Given the description of an element on the screen output the (x, y) to click on. 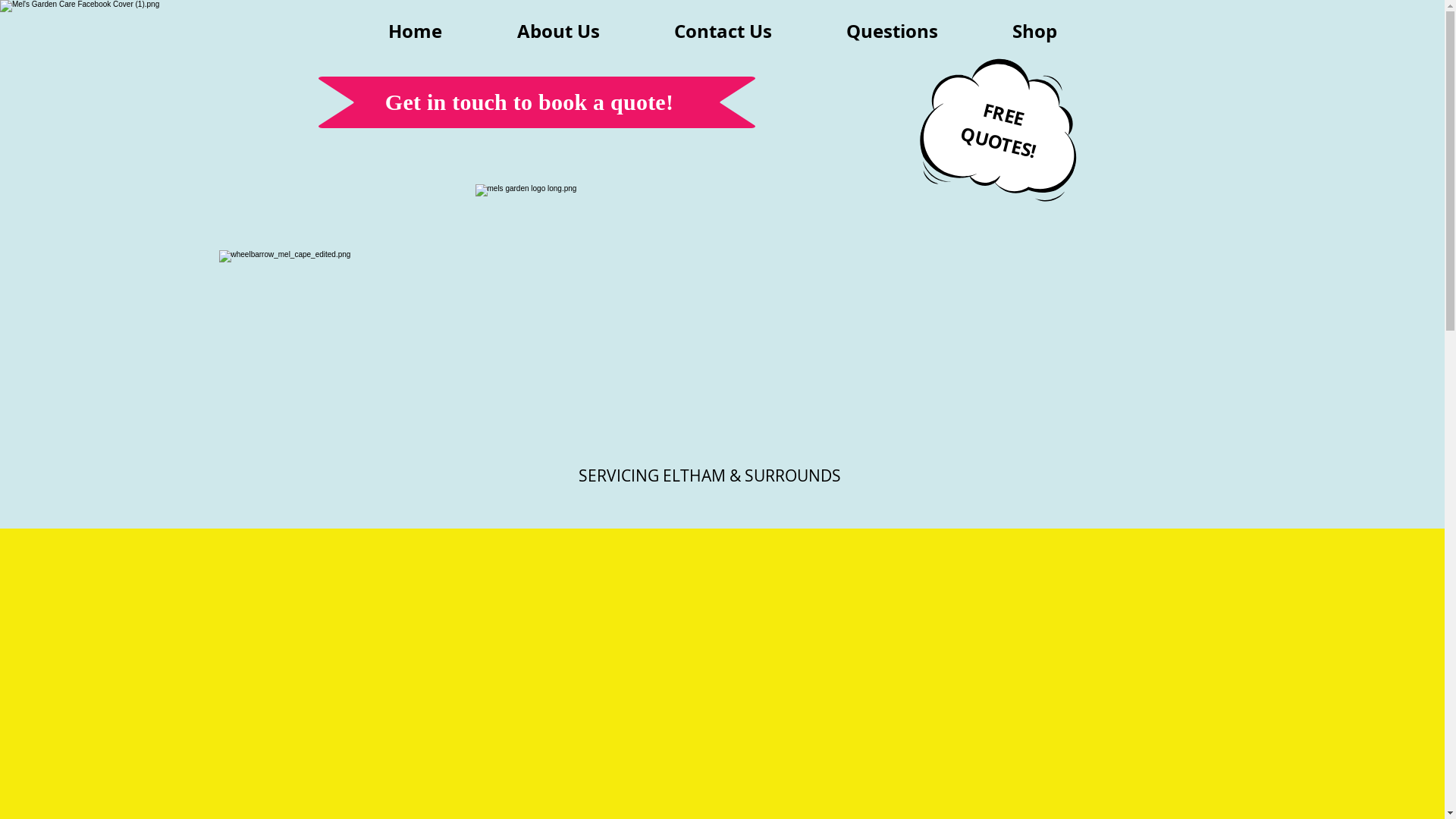
Home Element type: text (414, 30)
Shop Element type: text (1034, 30)
Get in touch to book a quote! Element type: text (529, 103)
FREE Element type: text (1000, 101)
QUOTES! Element type: text (995, 130)
